Given the description of an element on the screen output the (x, y) to click on. 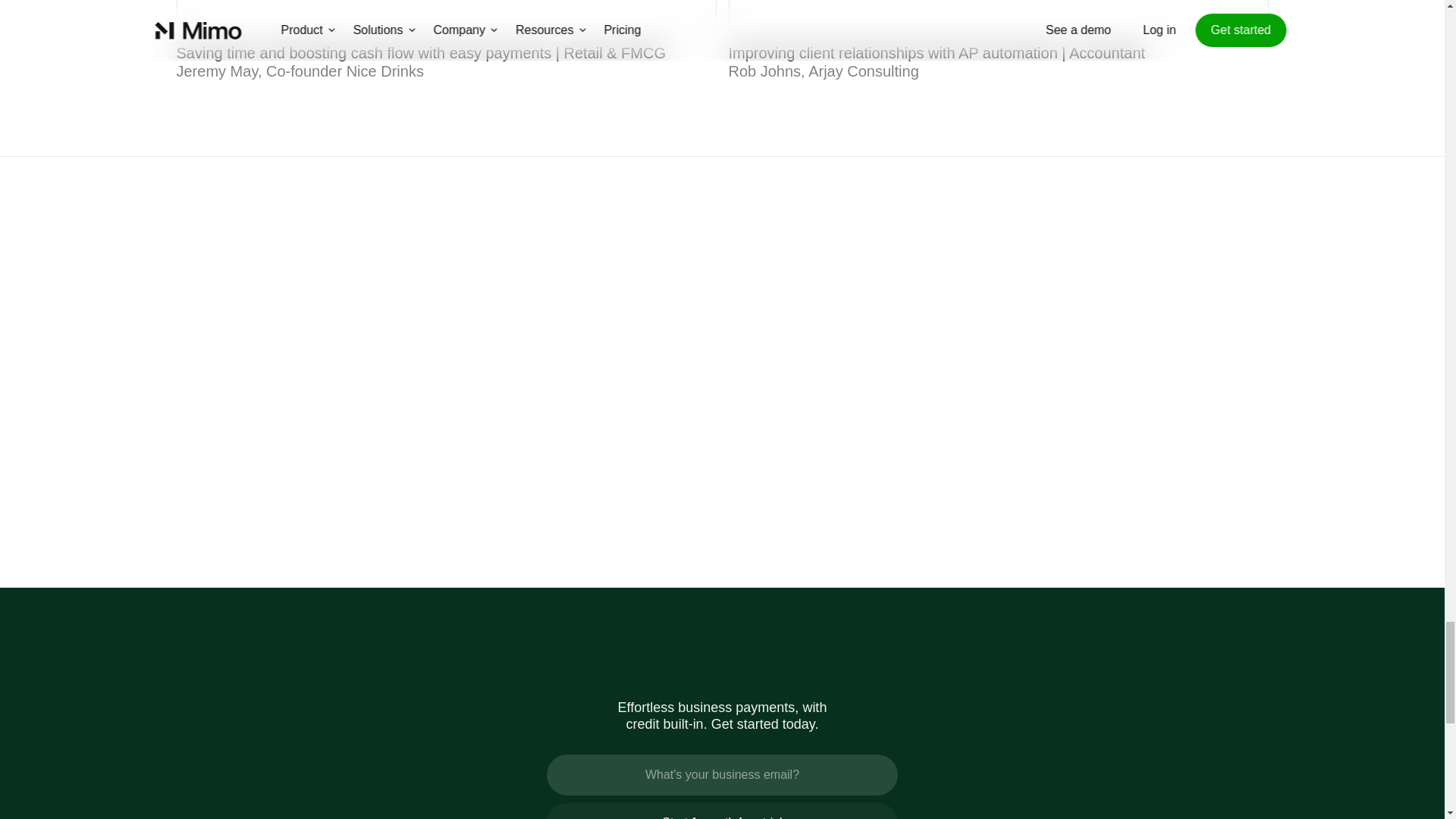
Start 1 month free trial (722, 811)
Start 1 month free trial (722, 811)
